Given the description of an element on the screen output the (x, y) to click on. 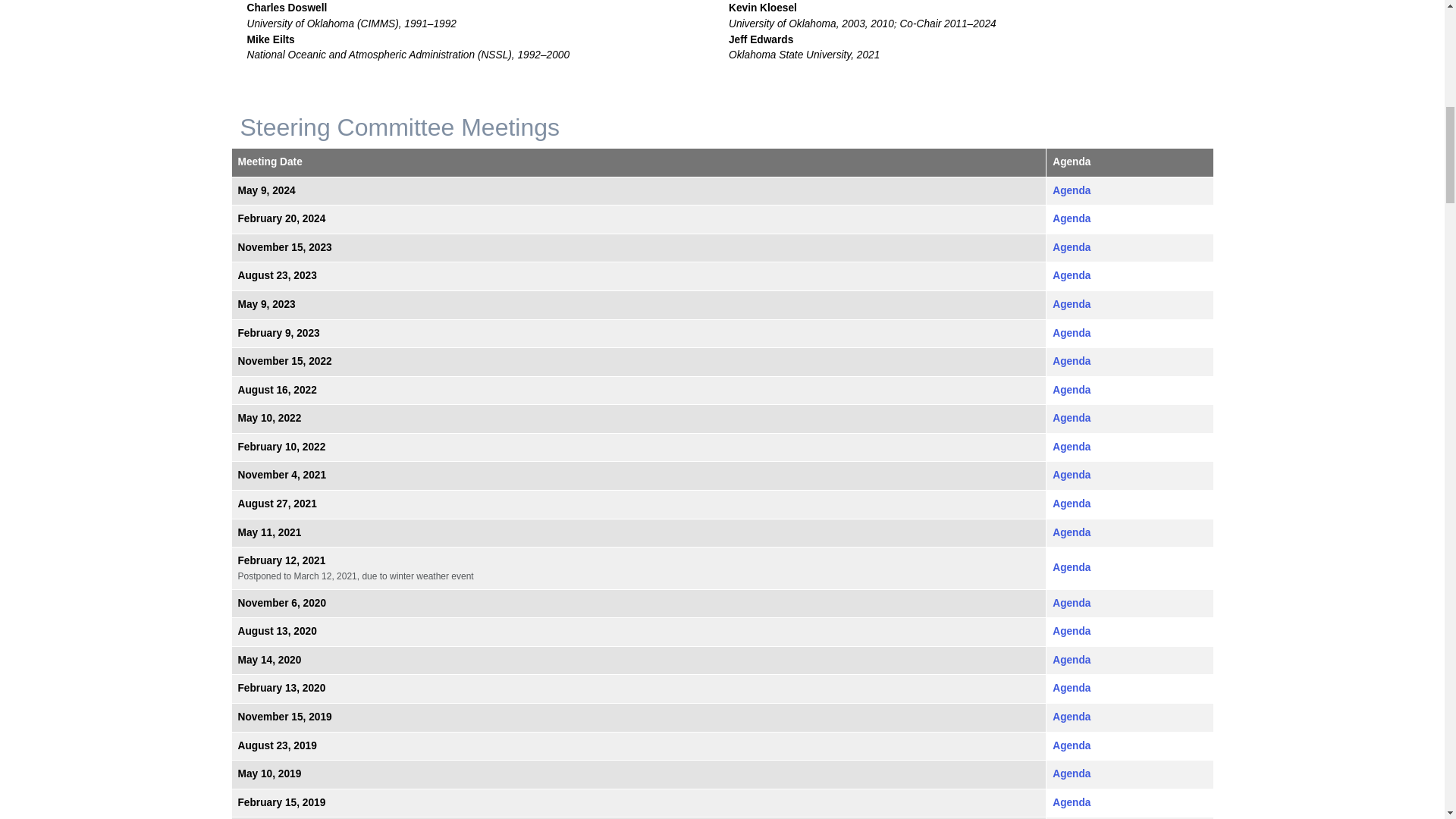
Agenda (1071, 275)
Agenda (1071, 190)
Agenda (1071, 218)
Agenda (1071, 247)
